Given the description of an element on the screen output the (x, y) to click on. 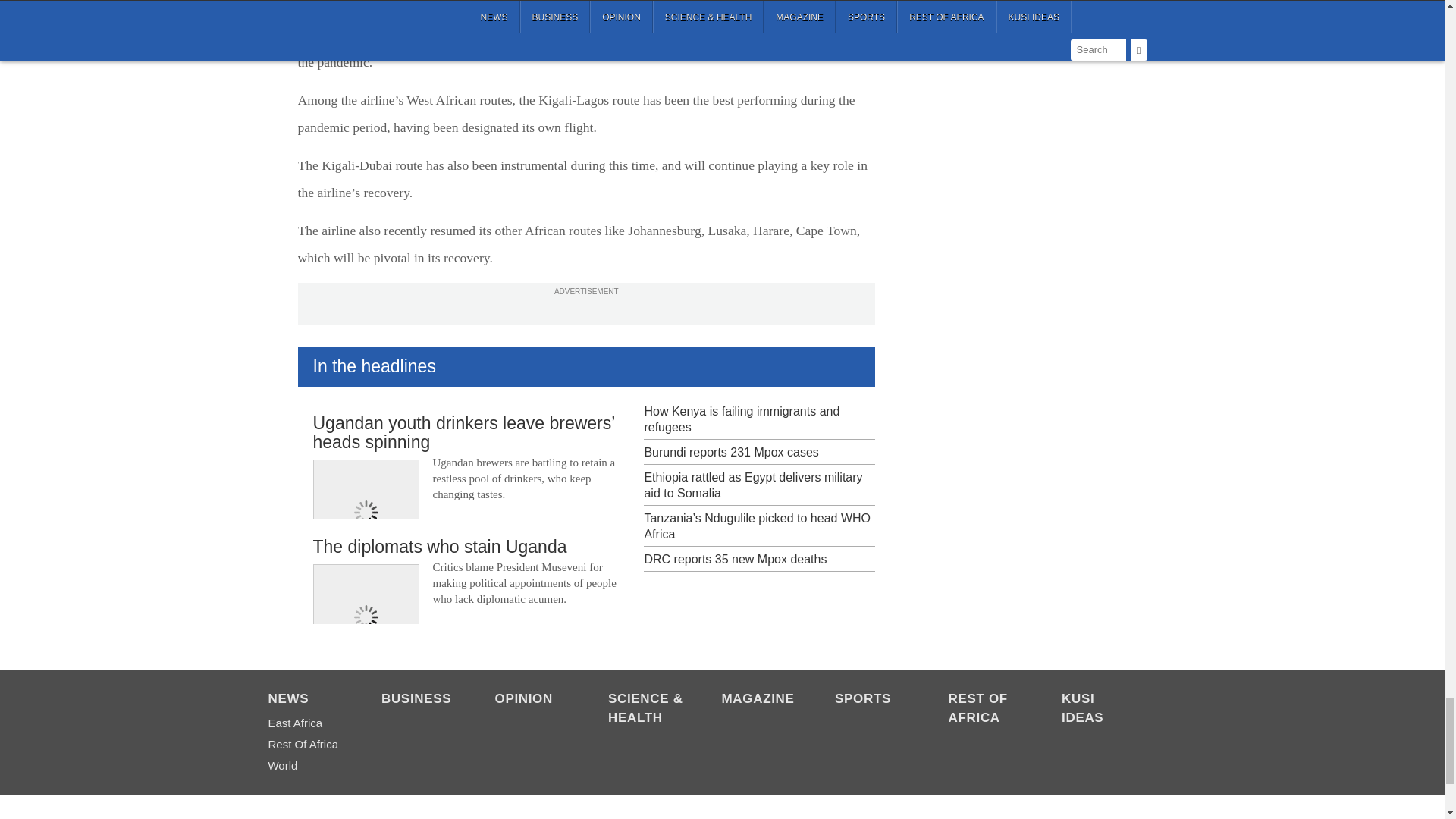
World (306, 765)
Rest of Africa (306, 744)
News (306, 699)
Business (419, 699)
Magazine (760, 699)
Opinion (533, 699)
Sports (873, 699)
East Africa (306, 722)
